Given the description of an element on the screen output the (x, y) to click on. 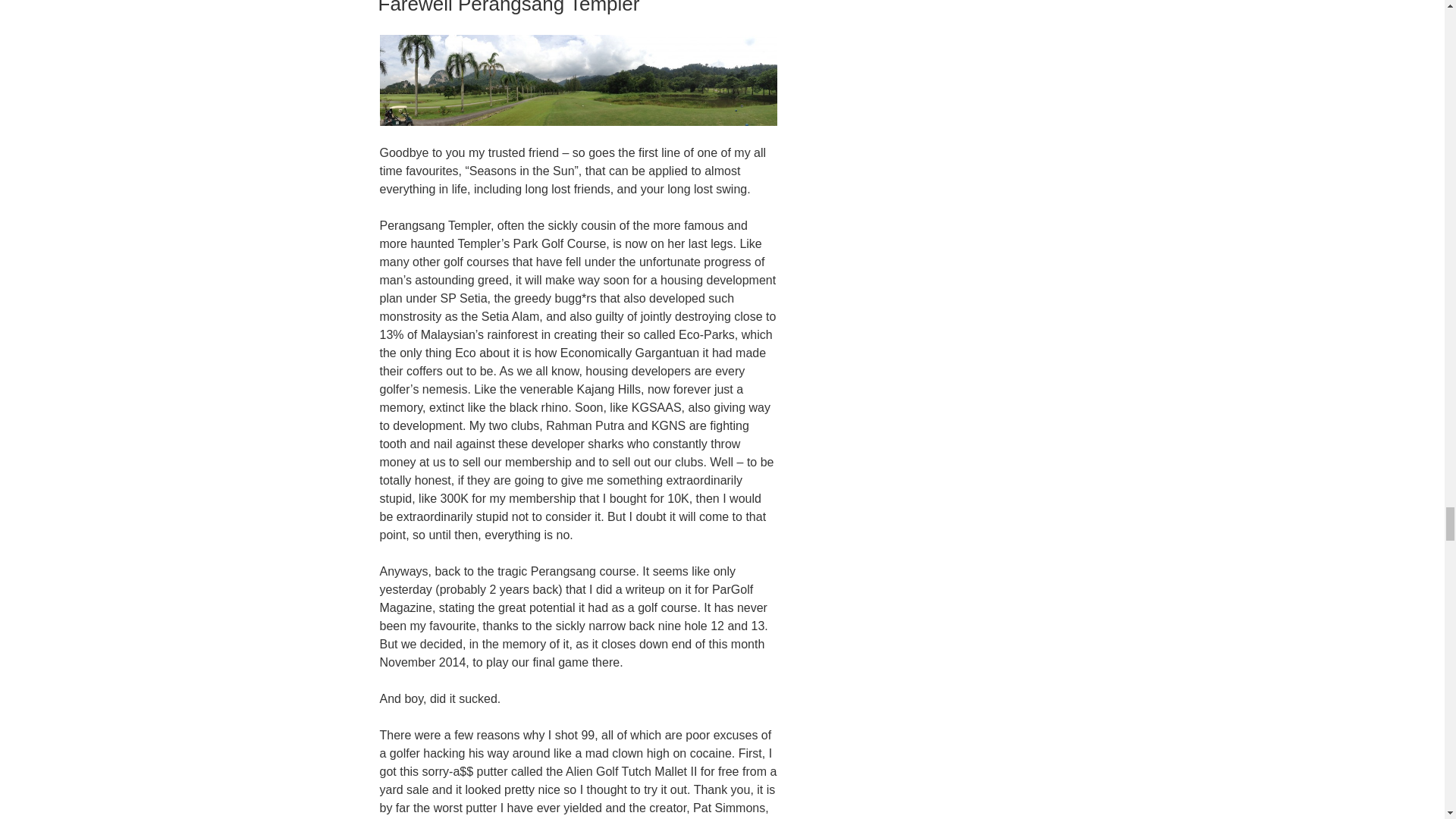
Farewell Perangsang Templer (508, 7)
